Given the description of an element on the screen output the (x, y) to click on. 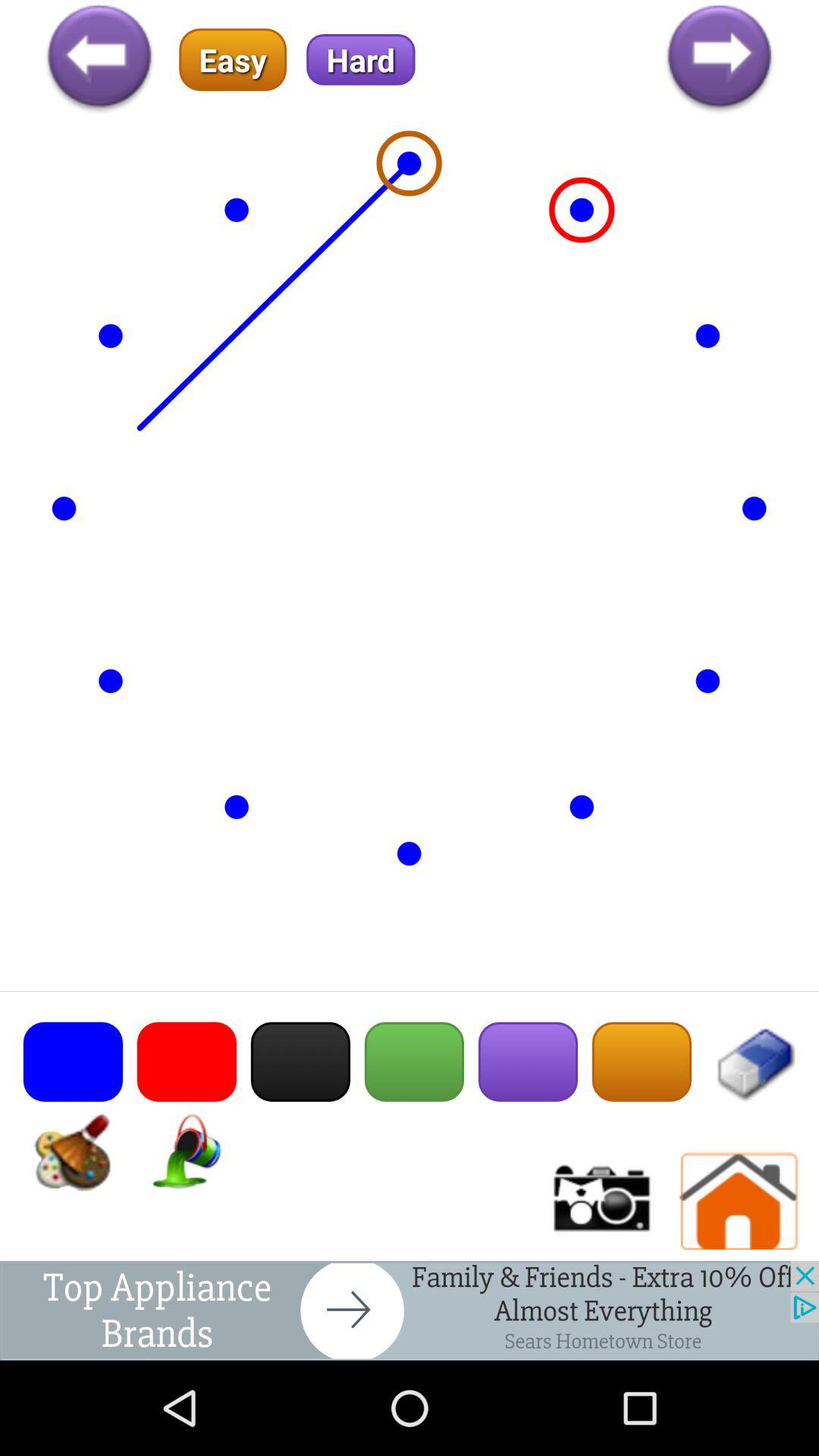
camera (599, 1200)
